Given the description of an element on the screen output the (x, y) to click on. 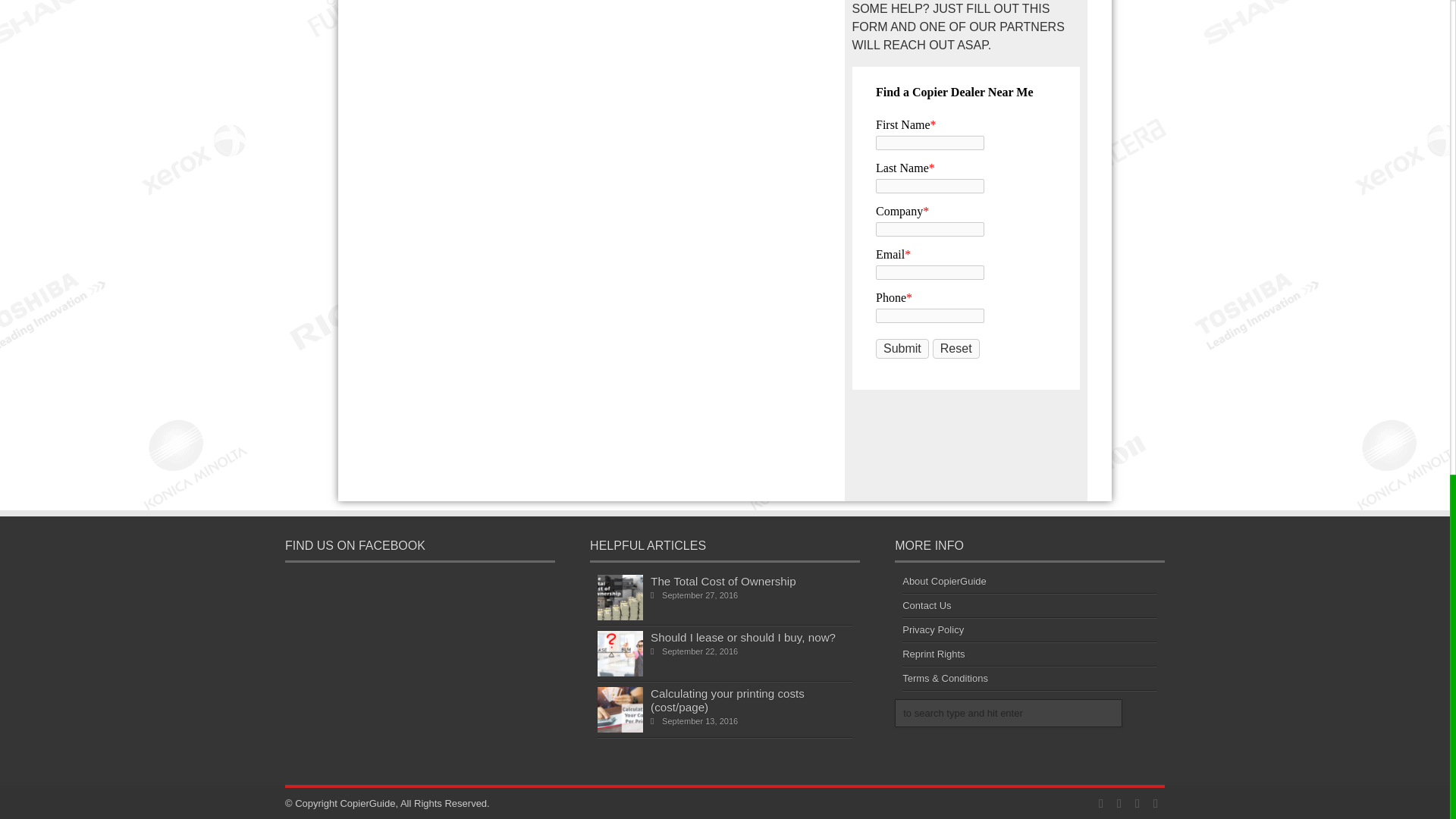
Permalink to Should I lease or should I buy, now? (619, 672)
to search type and hit enter (1008, 713)
Permalink to The Total Cost of Ownership (619, 616)
